Given the description of an element on the screen output the (x, y) to click on. 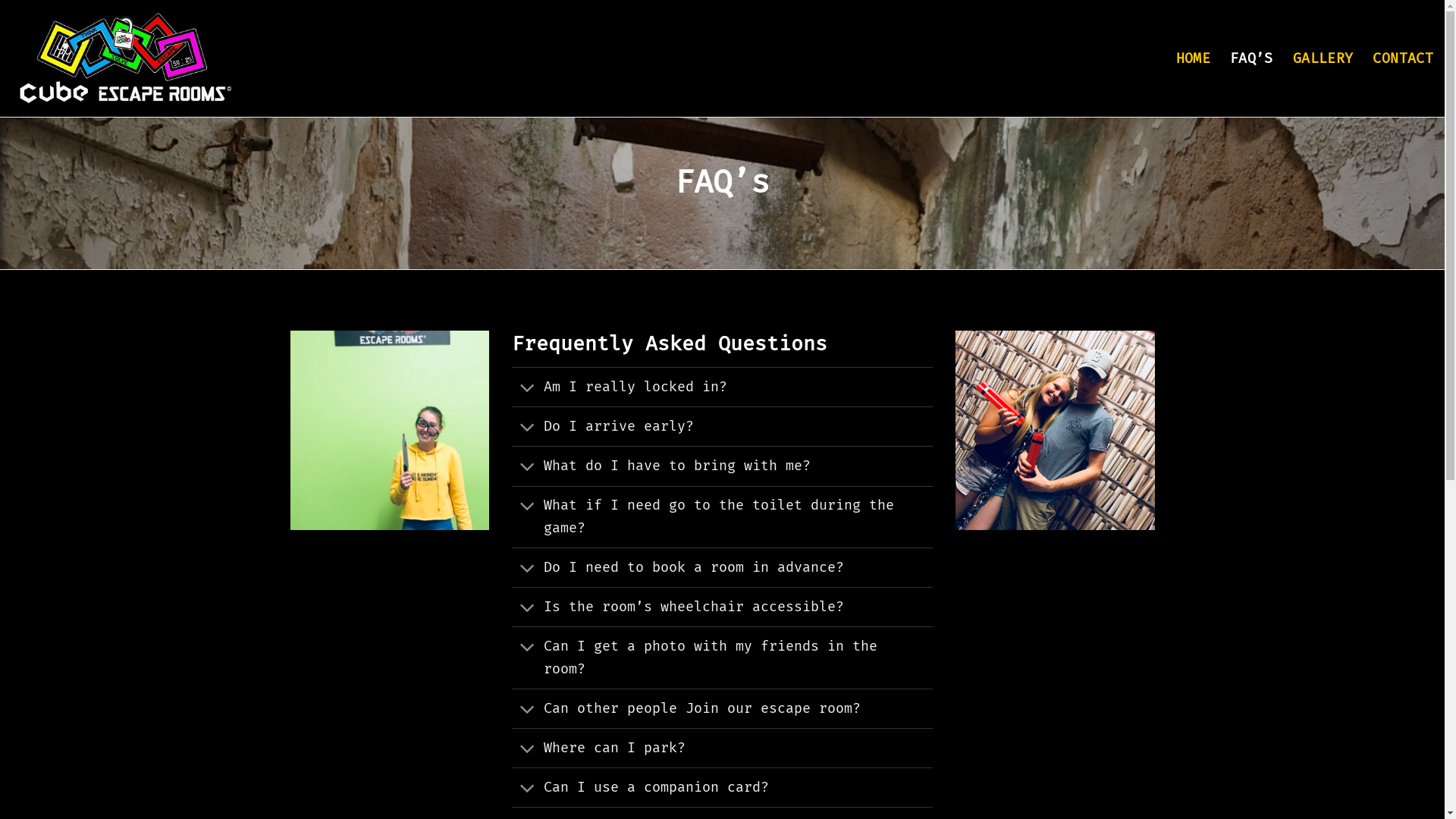
What if I need go to the toilet during the game? Element type: text (721, 516)
What do I have to bring with me? Element type: text (721, 465)
Cube Escape Rooms - Live Action Entertainment Element type: hover (123, 58)
HOME Element type: text (1193, 58)
CONTACT Element type: text (1402, 58)
Can I get a photo with my friends in the room? Element type: text (721, 656)
GALLERY Element type: text (1322, 58)
Where can I park? Element type: text (721, 747)
Can other people Join our escape room? Element type: text (721, 708)
Do I arrive early? Element type: text (721, 425)
Can I use a companion card? Element type: text (721, 786)
Am I really locked in? Element type: text (721, 386)
Do I need to book a room in advance? Element type: text (721, 566)
